Given the description of an element on the screen output the (x, y) to click on. 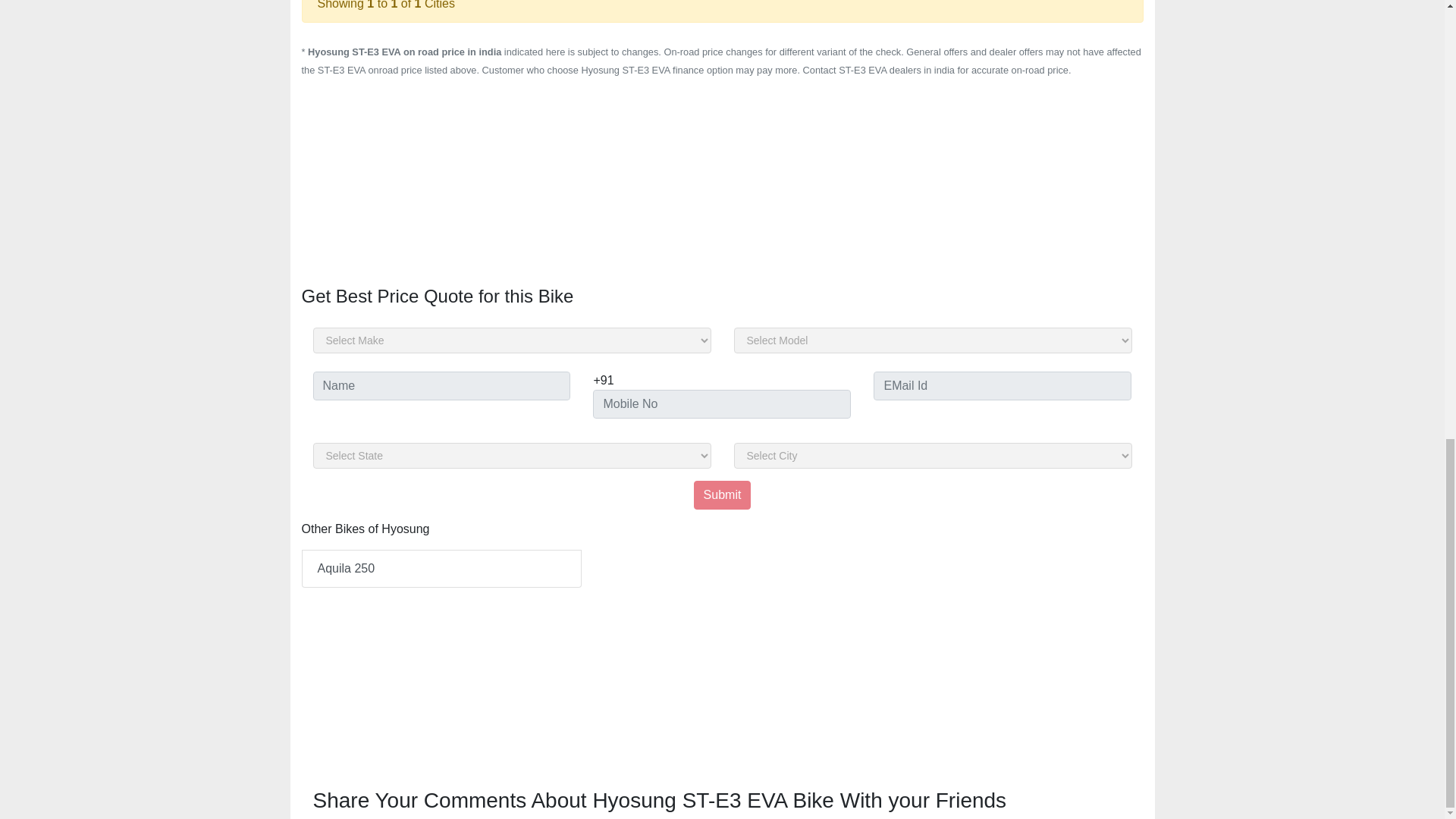
Aquila 250 (441, 568)
Advertisement (721, 682)
Aquila 250 (441, 568)
Submit (722, 494)
Advertisement (721, 185)
